Given the description of an element on the screen output the (x, y) to click on. 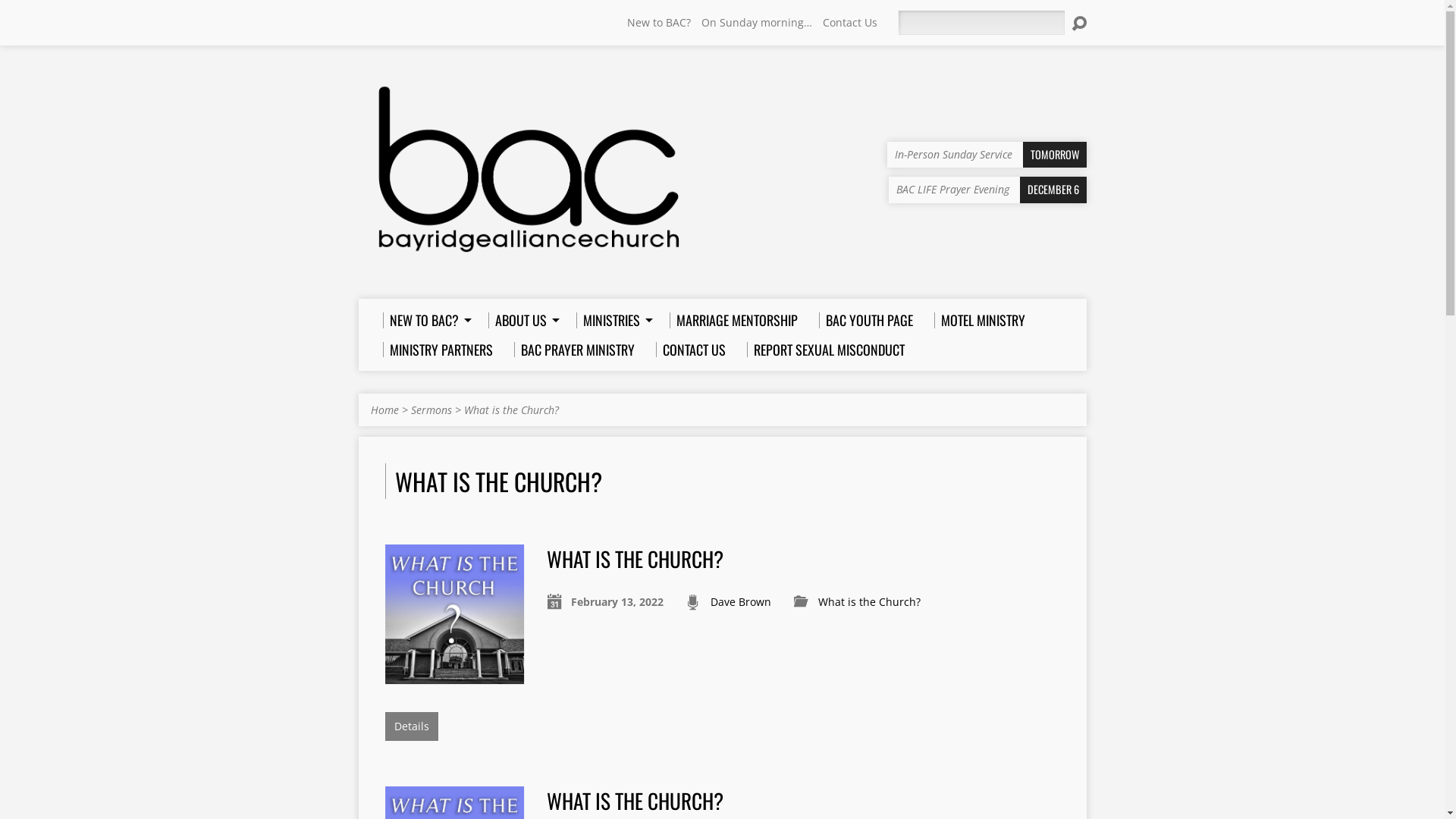
WHAT IS THE CHURCH? Element type: text (634, 558)
Dave Brown Element type: text (740, 601)
BAC YOUTH PAGE Element type: text (866, 319)
Search Element type: hover (1077, 23)
CONTACT US Element type: text (689, 349)
BAC PRAYER MINISTRY Element type: text (574, 349)
Details Element type: text (411, 726)
Sermons Element type: text (431, 409)
Contact Us Element type: text (849, 22)
WHAT IS THE CHURCH? Element type: text (634, 799)
MINISTRY PARTNERS Element type: text (437, 349)
What is the Church? Element type: text (511, 409)
MARRIAGE MENTORSHIP Element type: text (732, 319)
What is the Church? Element type: hover (454, 675)
REPORT SEXUAL MISCONDUCT Element type: text (824, 349)
NEW TO BAC? Element type: text (424, 319)
What is the Church? Element type: text (869, 601)
New to BAC? Element type: text (658, 22)
BAC LIFE Prayer Evening DECEMBER 6 Element type: text (987, 189)
In-Person Sunday Service TOMORROW Element type: text (986, 154)
MOTEL MINISTRY Element type: text (979, 319)
MINISTRIES Element type: text (612, 319)
Home Element type: text (384, 409)
ABOUT US Element type: text (521, 319)
